Given the description of an element on the screen output the (x, y) to click on. 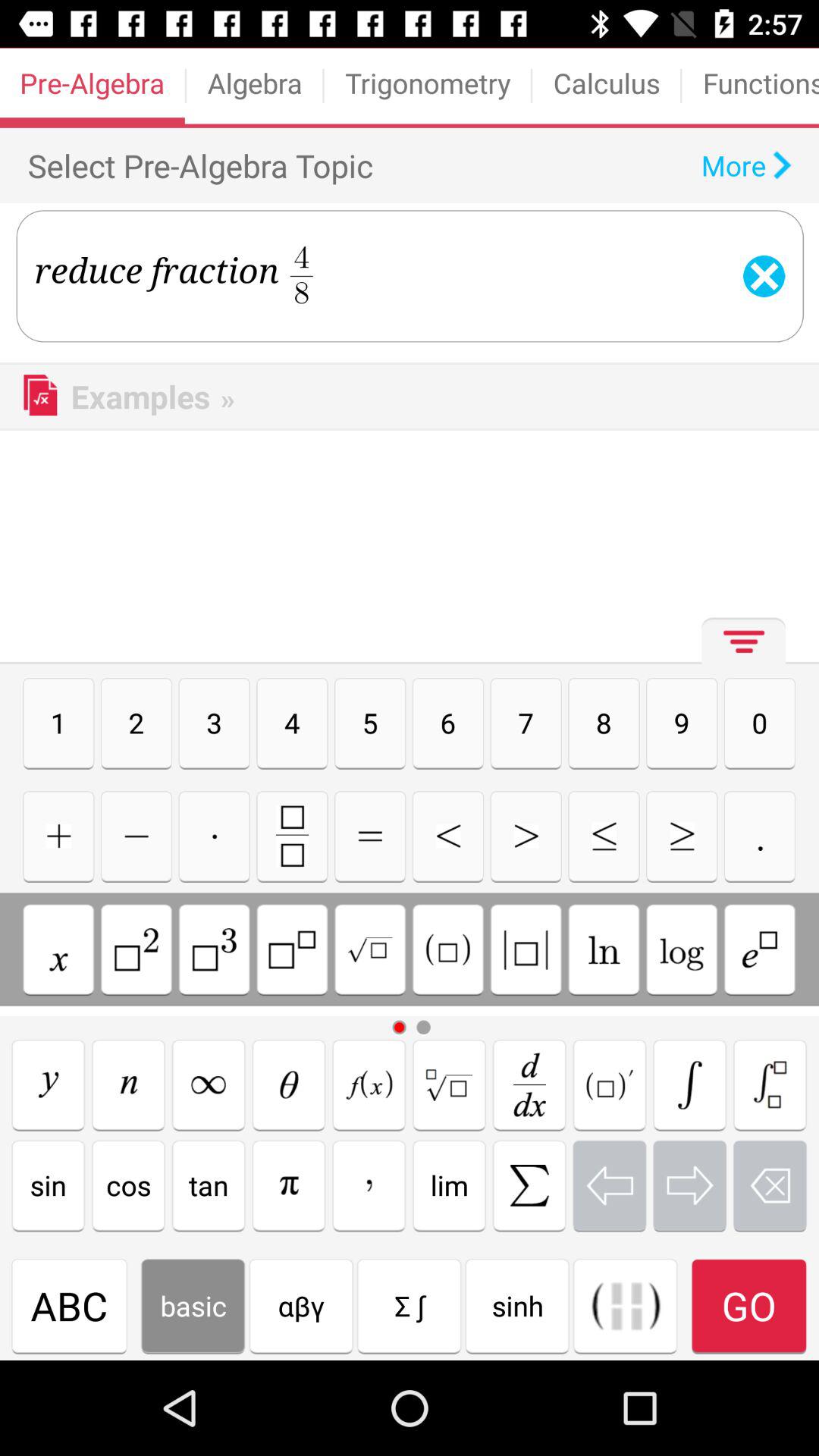
select pie sign (288, 1185)
